Given the description of an element on the screen output the (x, y) to click on. 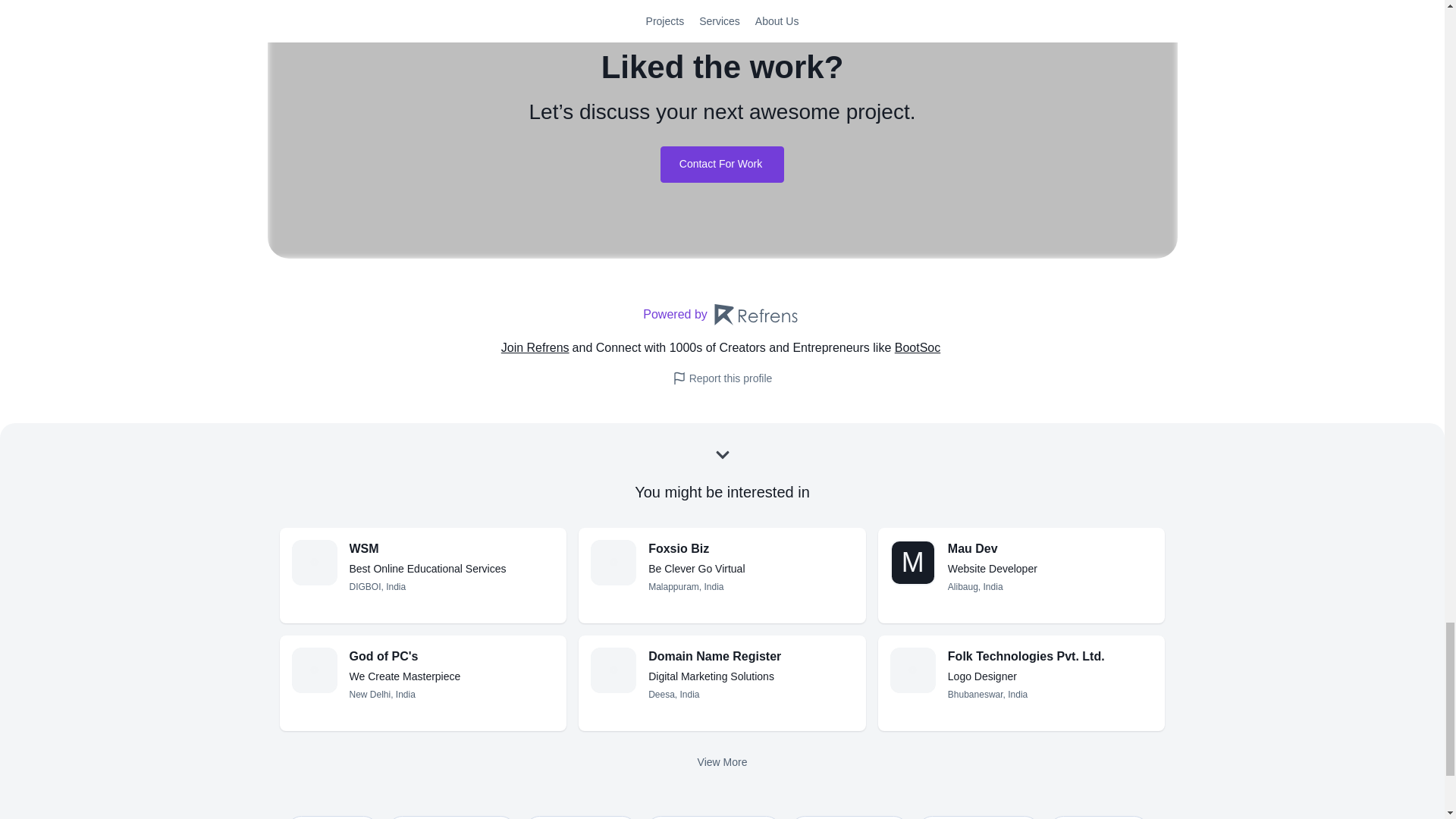
Folk Technologies Pvt. Ltd. (1050, 656)
WSM (451, 548)
God of PC's (313, 670)
Join Refrens (536, 347)
God of PC's (451, 656)
Foxsio Biz (721, 314)
BootSoc (613, 562)
WSM (919, 347)
Contact For Work (313, 562)
Mau Dev (722, 164)
Domain Name Register (1050, 548)
Foxsio Biz (750, 656)
Mau Dev (750, 548)
Foxsio Biz (1050, 548)
